Given the description of an element on the screen output the (x, y) to click on. 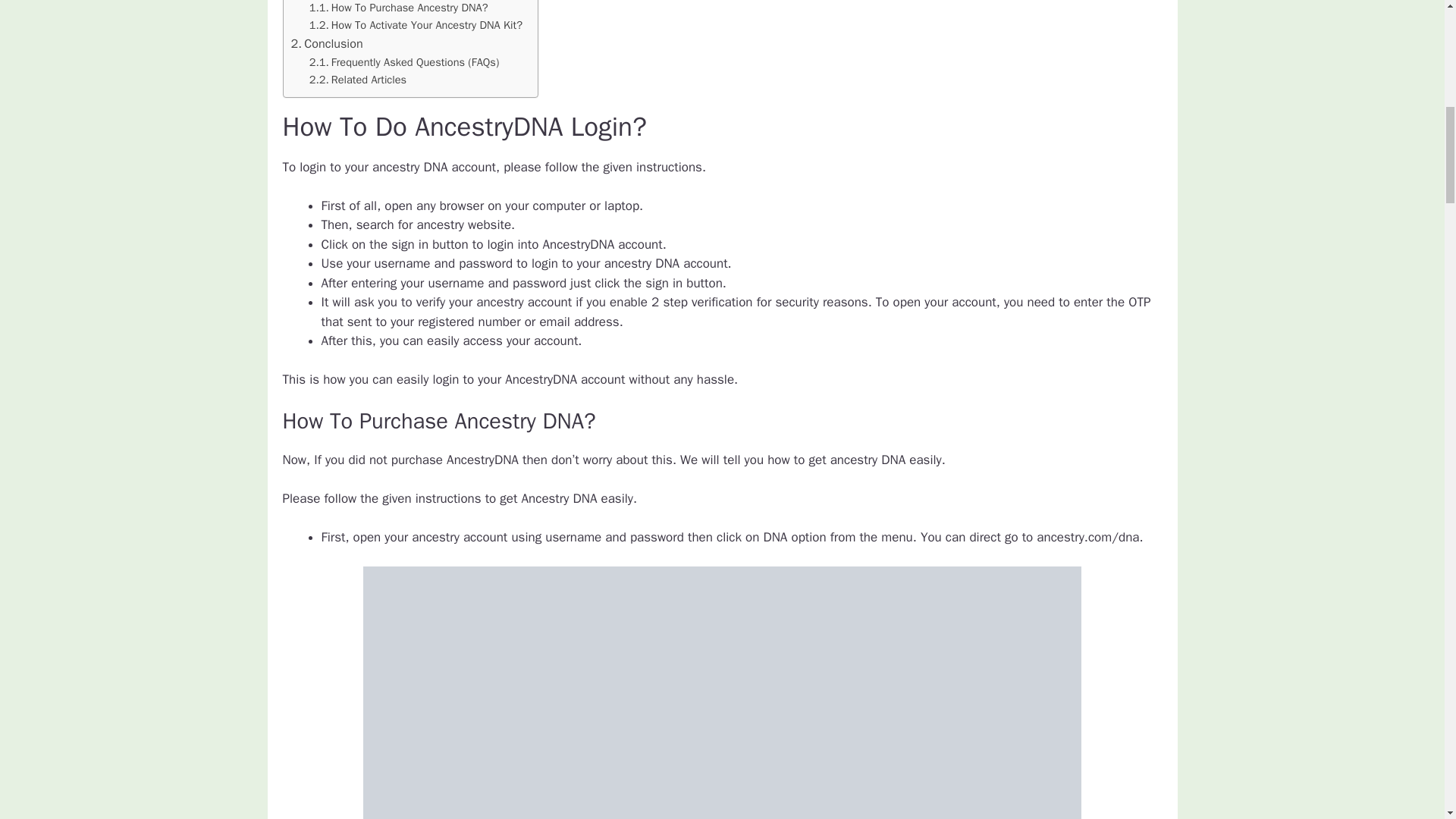
Related Articles (357, 79)
How To Activate Your Ancestry DNA Kit? (415, 25)
Related Articles (357, 79)
Conclusion (326, 44)
How To Activate Your Ancestry DNA Kit? (415, 25)
How To Purchase Ancestry DNA? (397, 8)
How To Purchase Ancestry DNA? (397, 8)
Conclusion (326, 44)
